Given the description of an element on the screen output the (x, y) to click on. 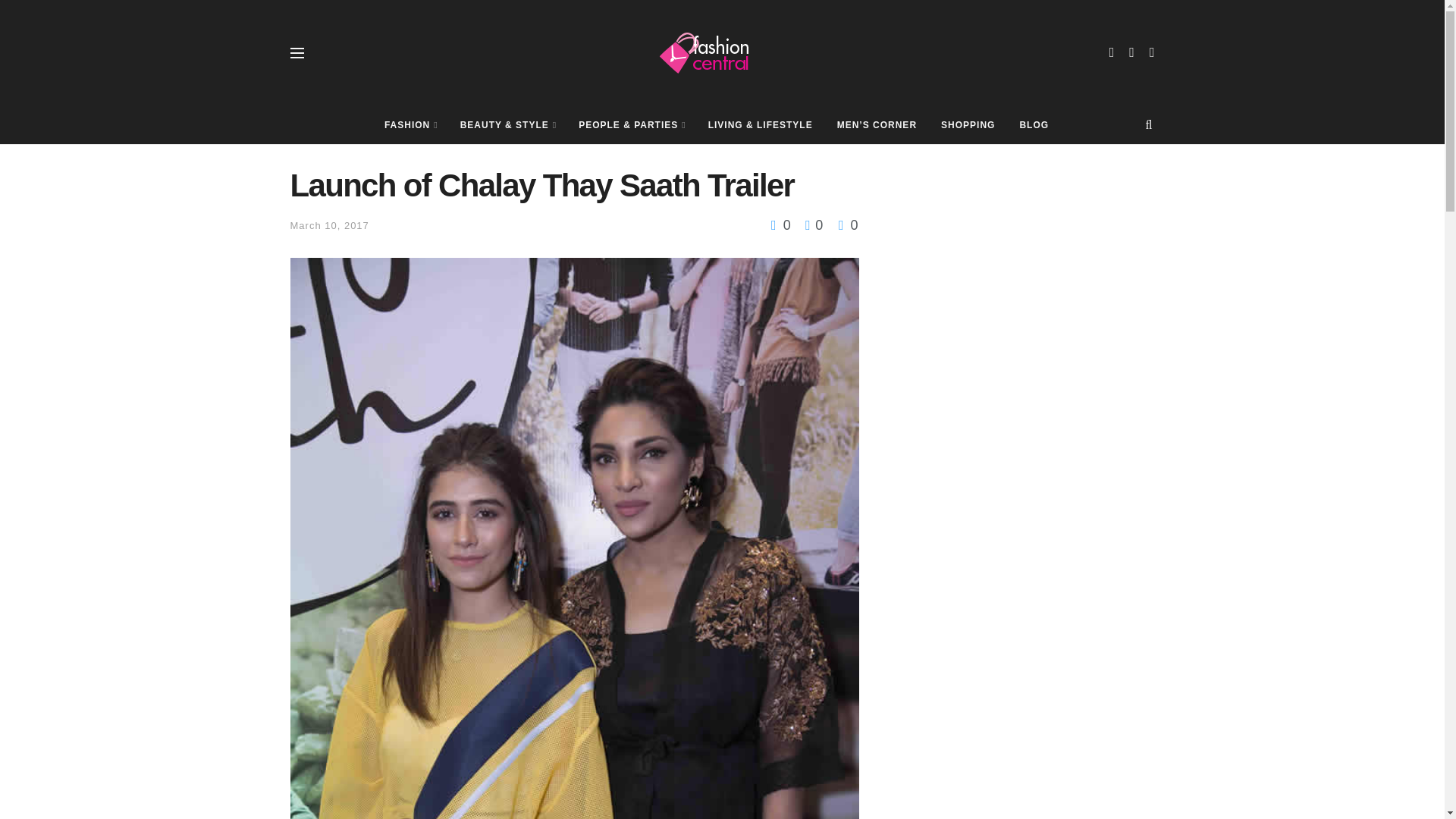
FASHION (410, 125)
BLOG (1034, 125)
SHOPPING (967, 125)
